Given the description of an element on the screen output the (x, y) to click on. 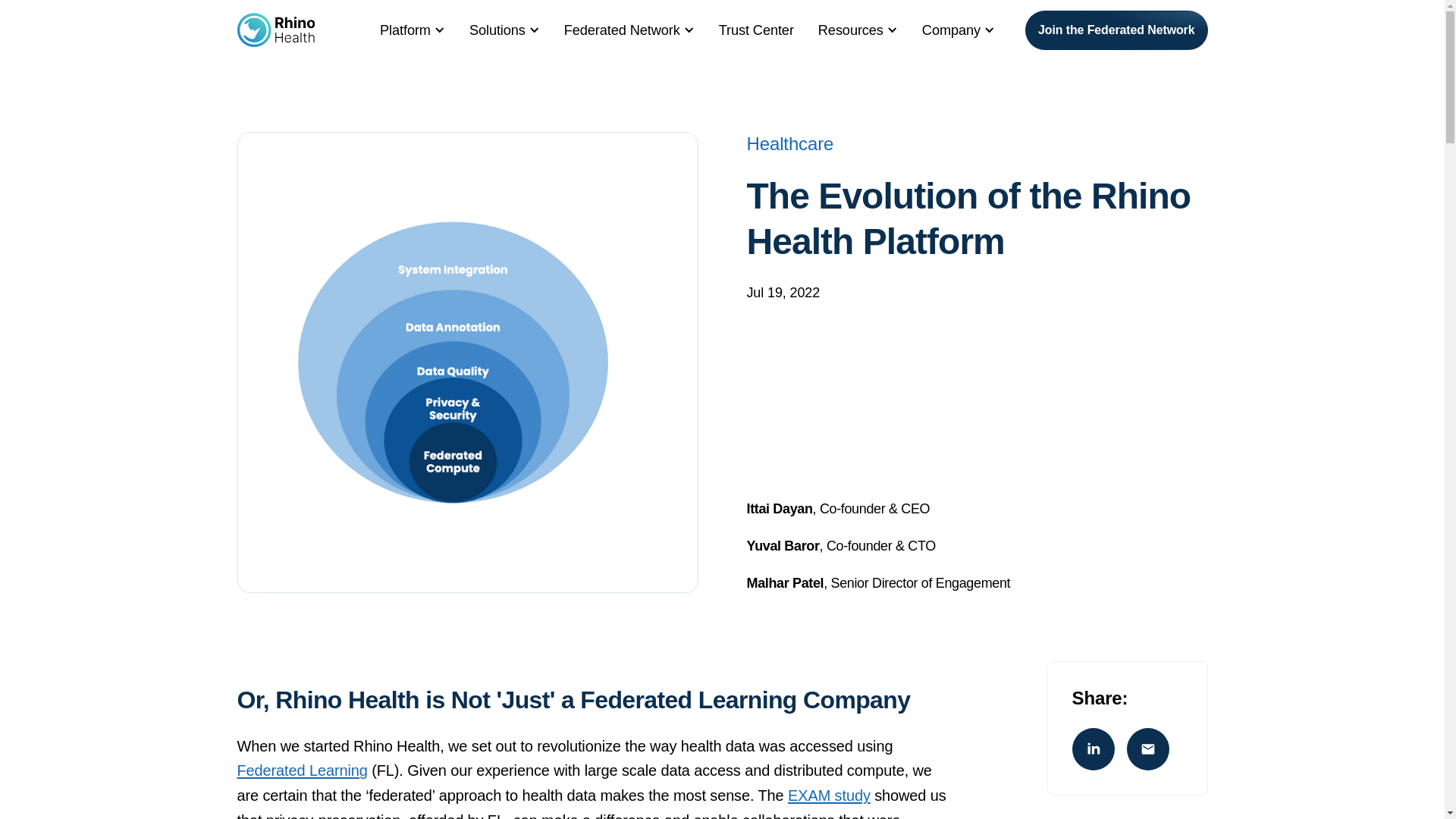
Federated Network (621, 30)
Platform (405, 30)
Company (950, 30)
Join the Federated Network (1116, 29)
Resources (850, 30)
Trust Center (756, 30)
Federated Learning (300, 770)
EXAM study (828, 795)
Solutions (496, 30)
